Given the description of an element on the screen output the (x, y) to click on. 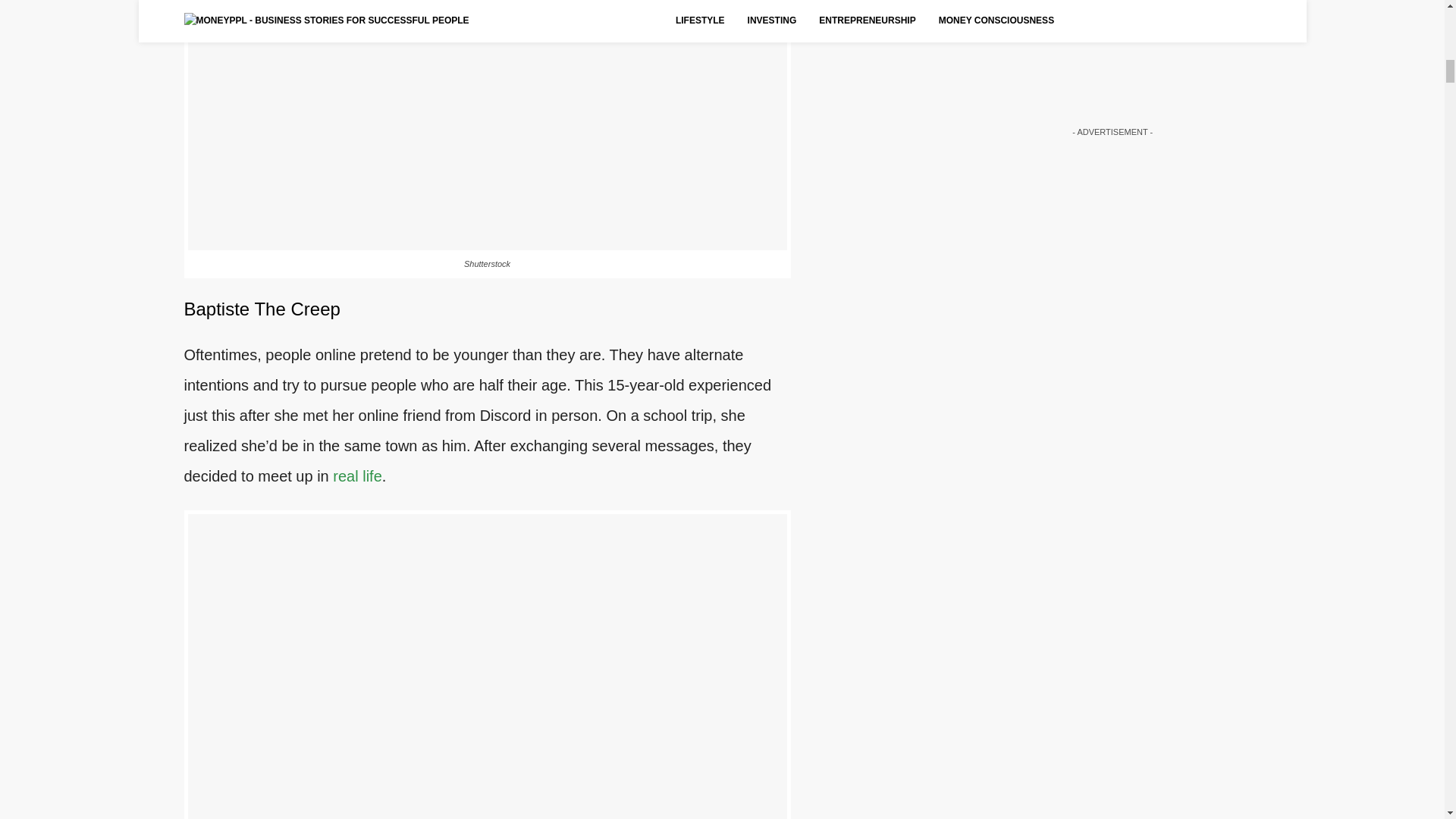
real life (357, 475)
